Given the description of an element on the screen output the (x, y) to click on. 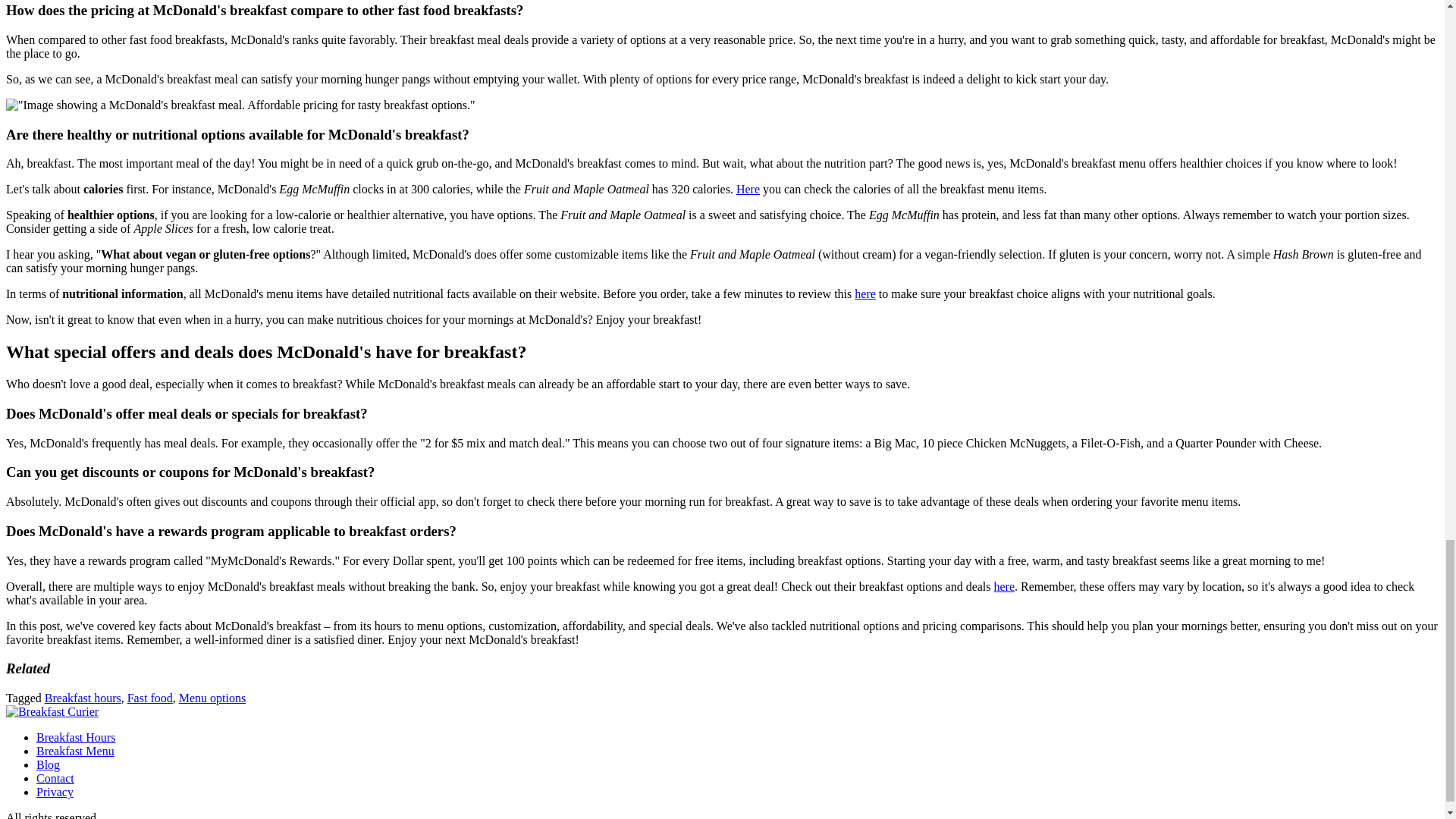
Menu options (212, 697)
Fast food (150, 697)
Blog (47, 764)
Contact (55, 778)
Breakfast Hours (75, 737)
Breakfast Menu (75, 750)
here (1004, 585)
here (865, 293)
Here (748, 188)
Privacy (55, 791)
